Given the description of an element on the screen output the (x, y) to click on. 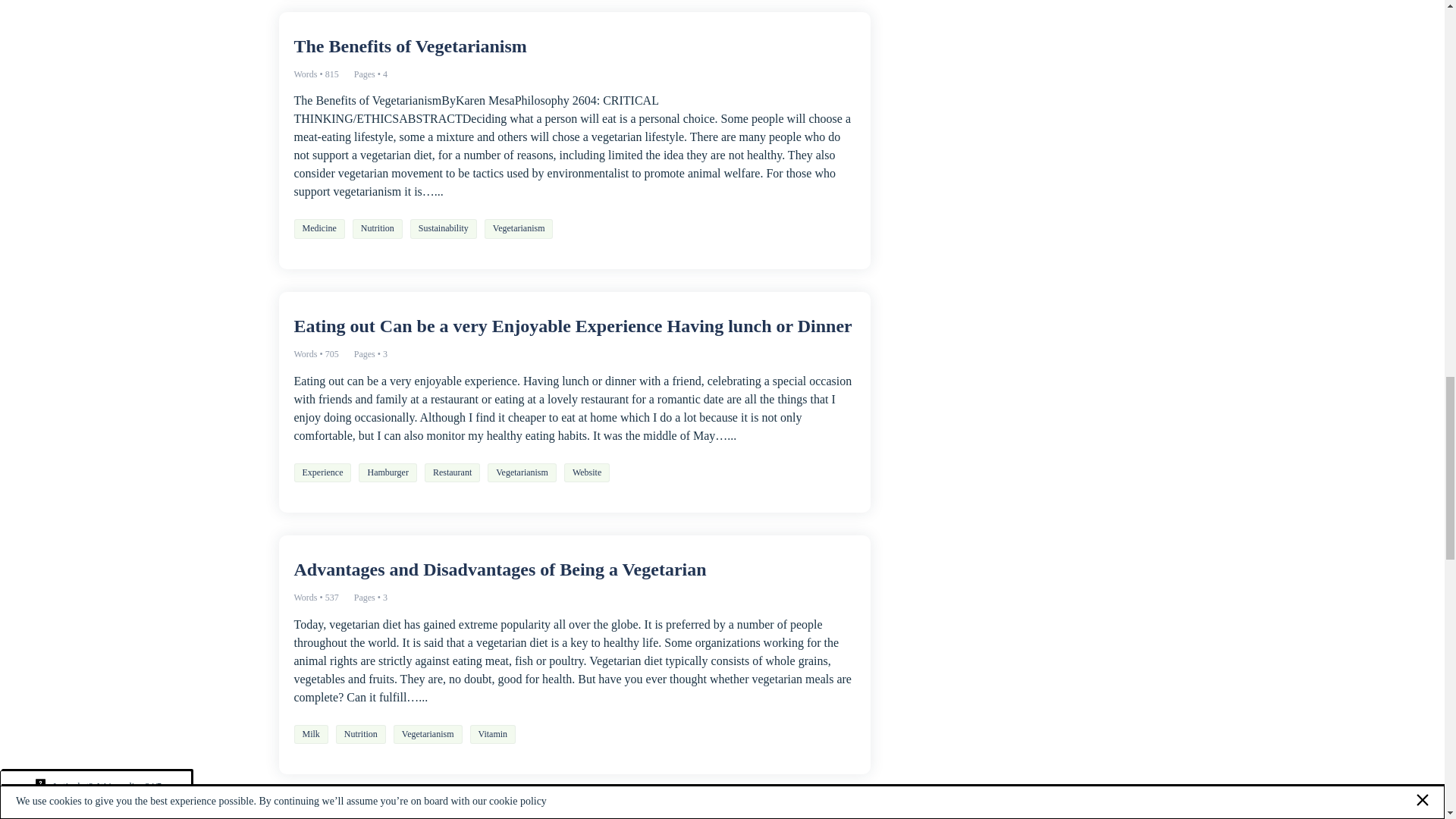
The Benefits of Vegetarianism (575, 46)
Advantages and Disadvantages of Being a Vegetarian (575, 568)
